Given the description of an element on the screen output the (x, y) to click on. 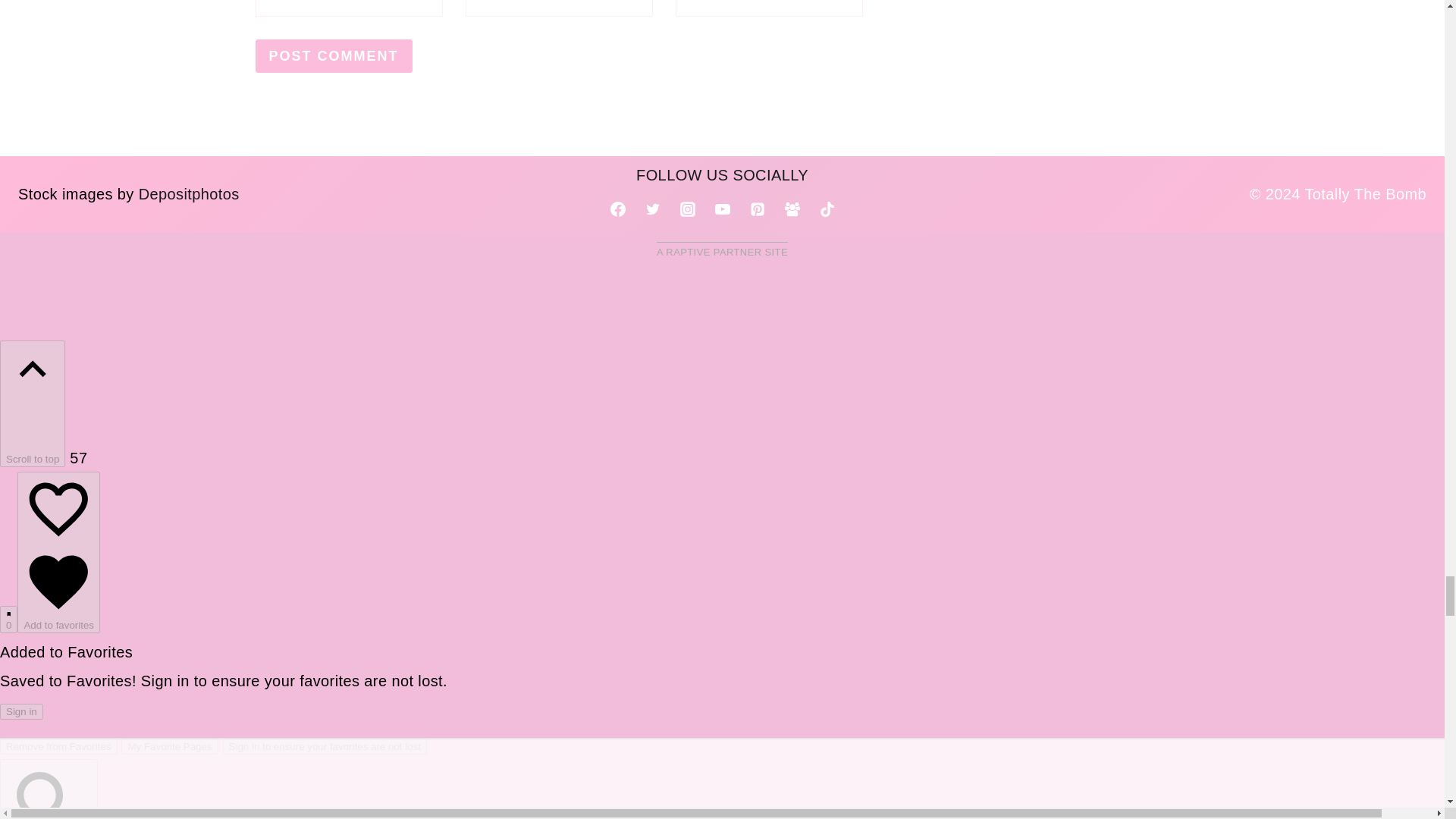
Post Comment (333, 55)
